Given the description of an element on the screen output the (x, y) to click on. 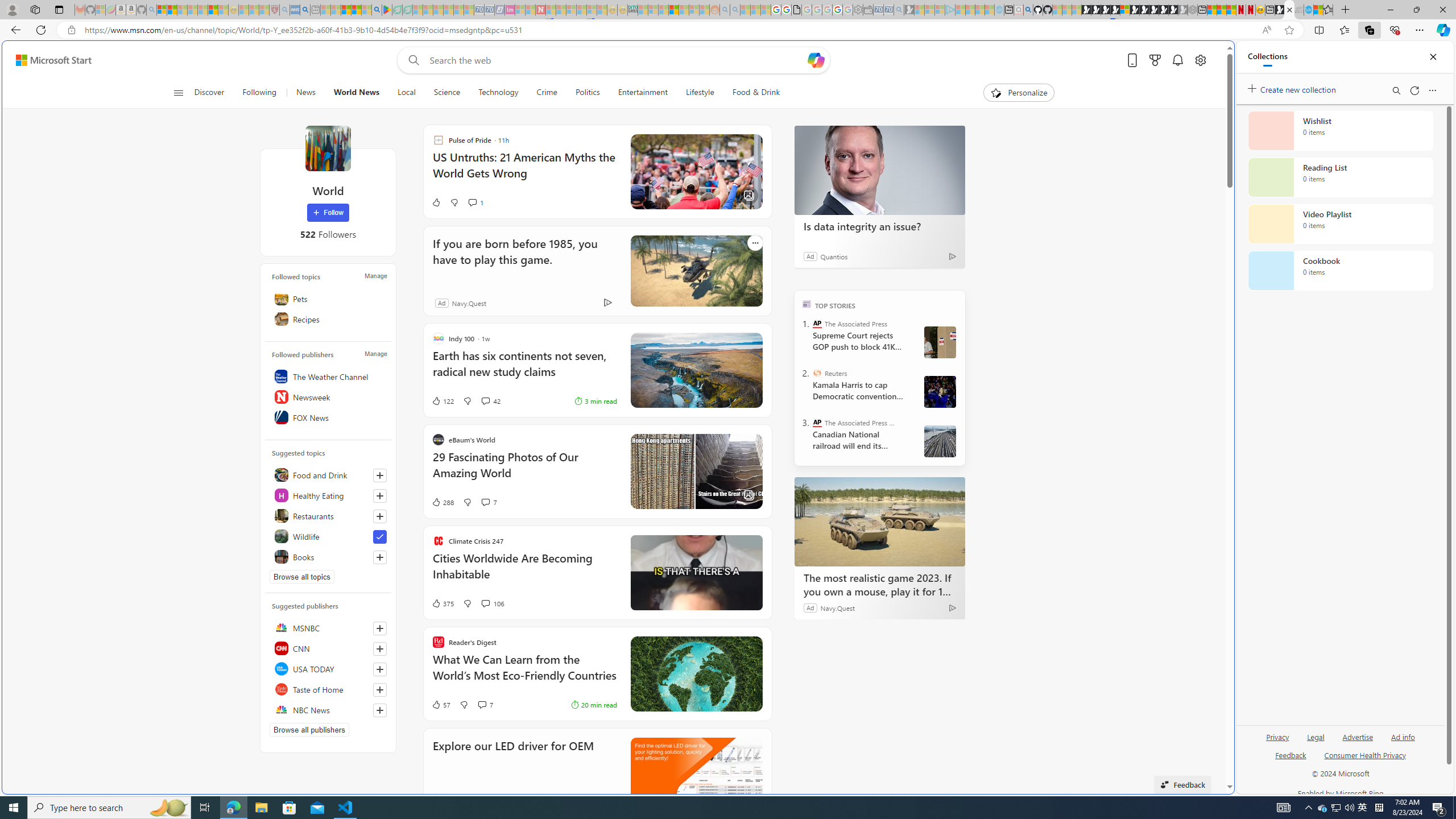
Healthy Eating (327, 495)
Pets (327, 298)
